Given the description of an element on the screen output the (x, y) to click on. 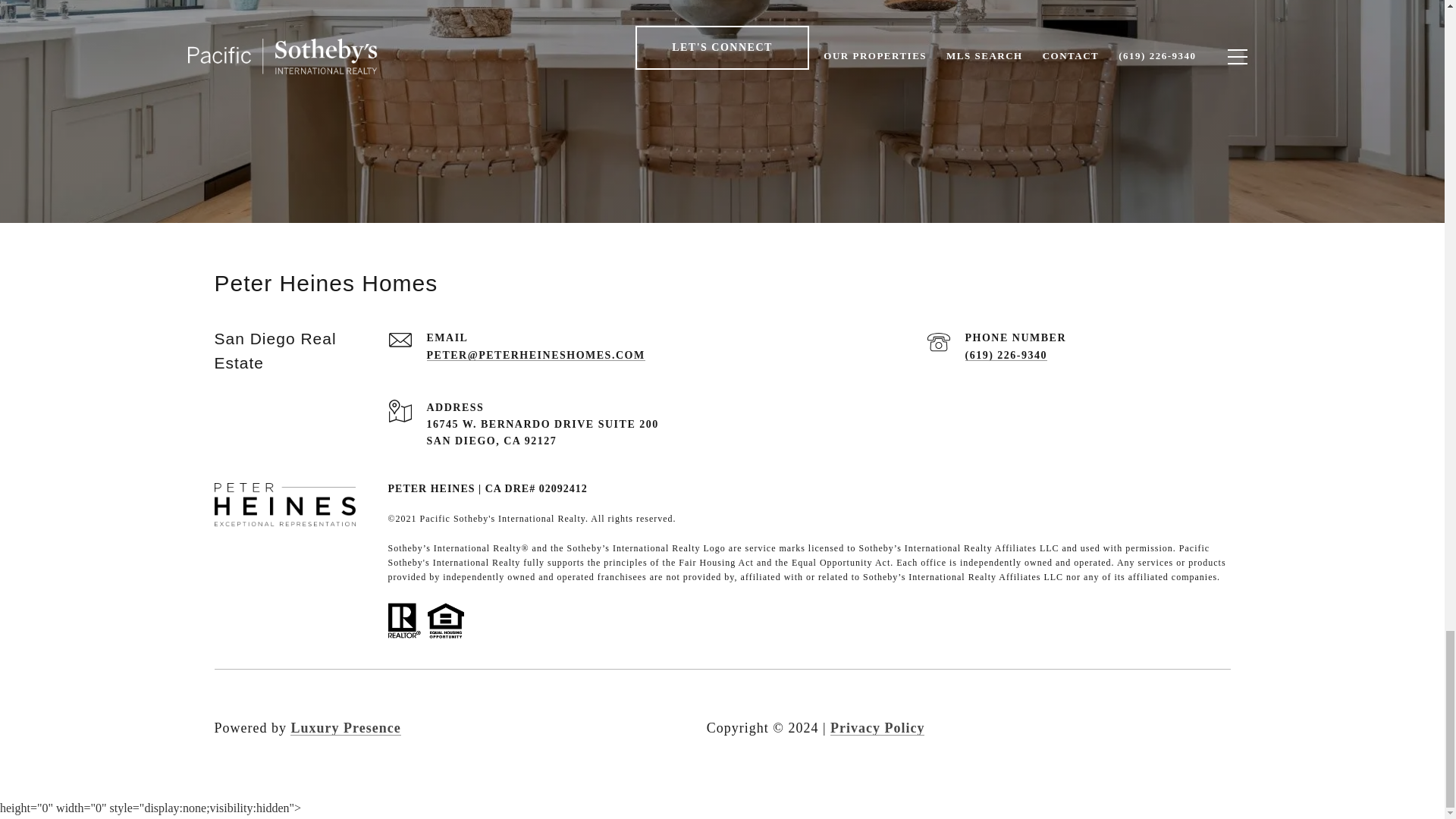
LET'S CONNECT (721, 47)
